Given the description of an element on the screen output the (x, y) to click on. 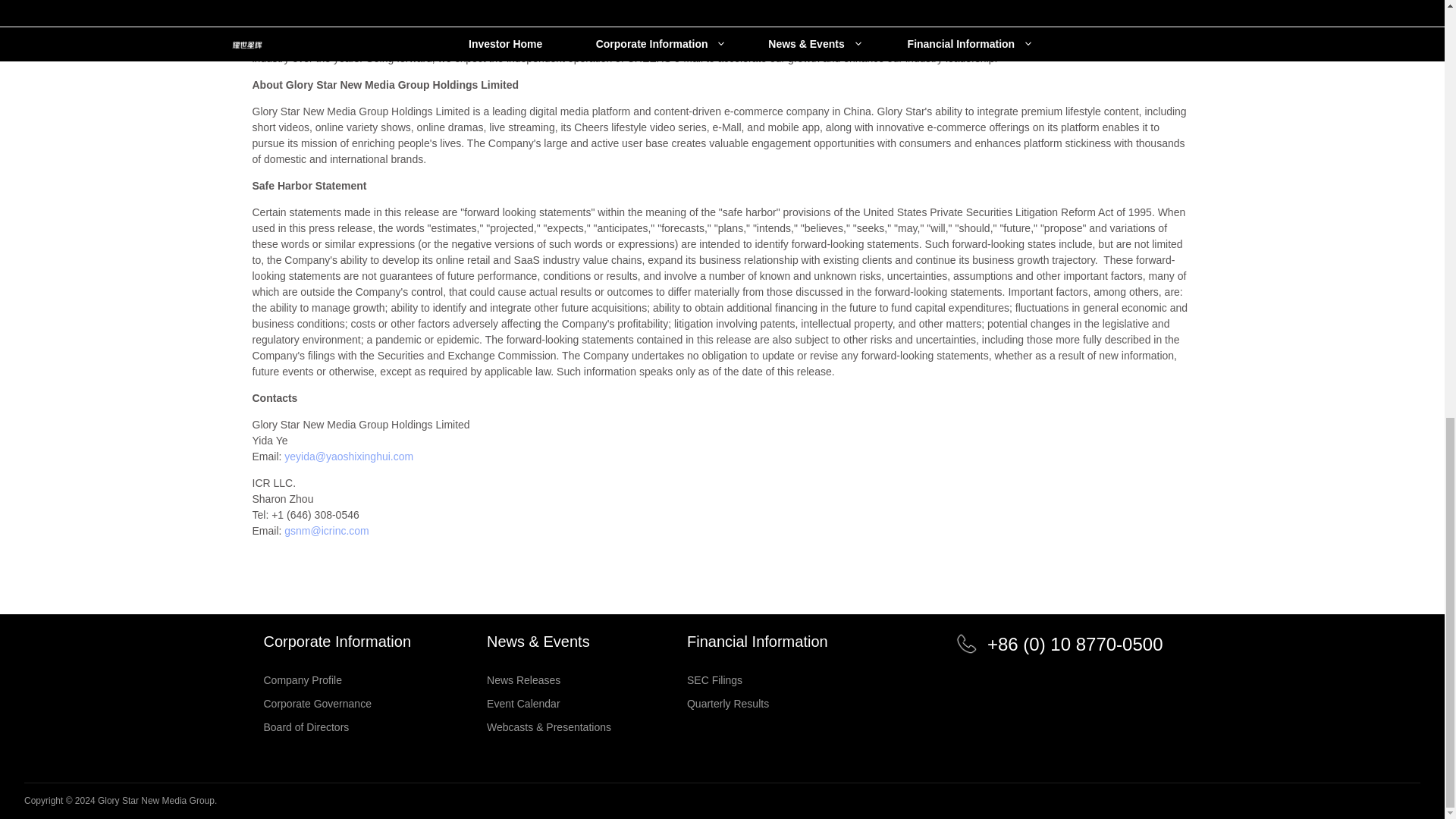
Company Profile (337, 680)
Board of Directors (337, 727)
Corporate Governance (337, 703)
Quarterly Results (757, 703)
Event Calendar (548, 703)
News Releases (548, 680)
SEC Filings (757, 680)
